Given the description of an element on the screen output the (x, y) to click on. 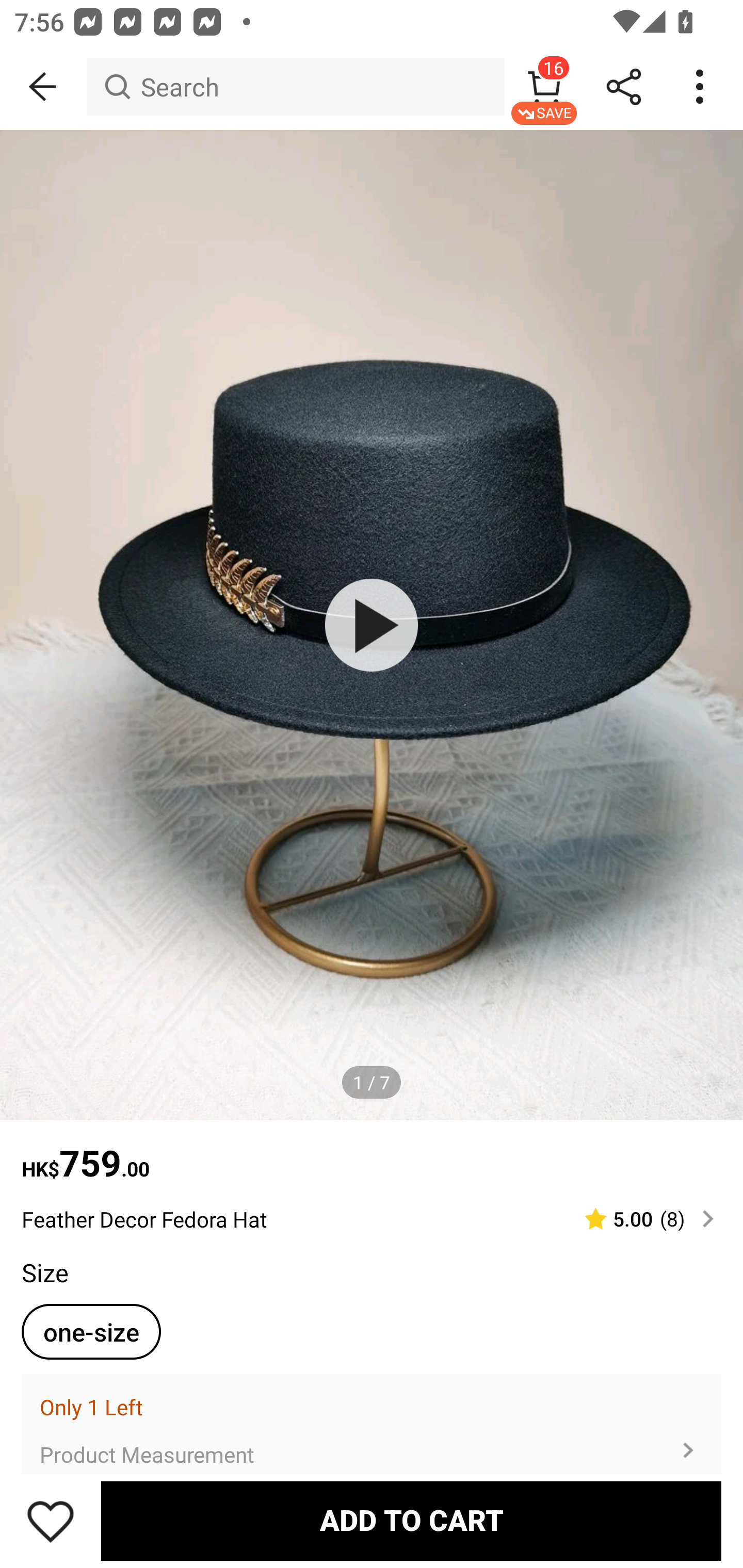
BACK (43, 86)
16 SAVE (543, 87)
Search (295, 87)
1 / 7 (371, 1082)
HK$759.00 (371, 1152)
5.00 (8) (640, 1219)
Size (44, 1271)
one-size one-sizeselected option (91, 1331)
ADD TO CART (411, 1520)
Save (50, 1520)
